Given the description of an element on the screen output the (x, y) to click on. 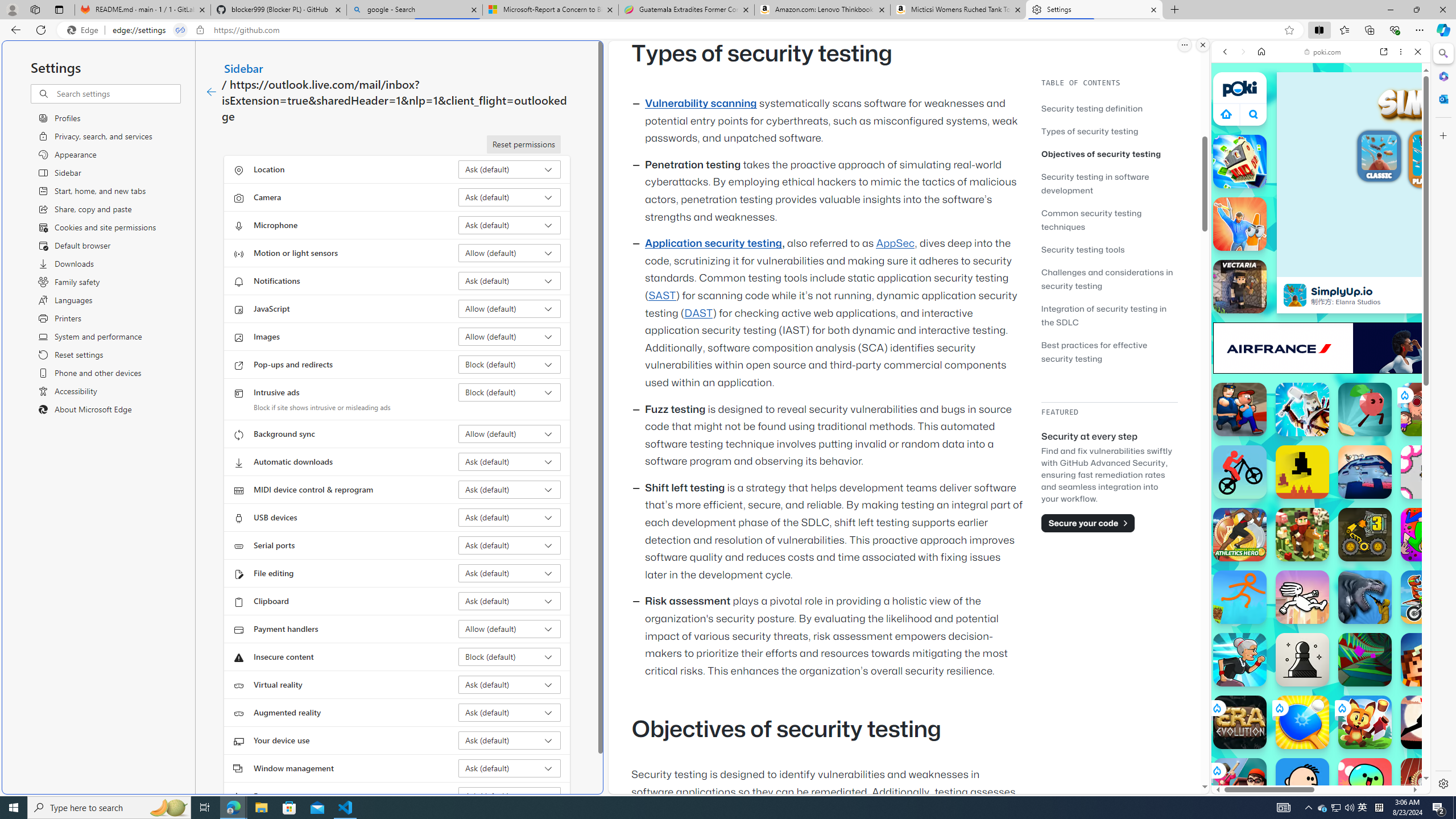
Games for Girls (1320, 407)
Class: rounded img-fluid d-block w-100 fit-cover (1433, 155)
Show More Shooting Games (1390, 296)
File editing Ask (default) (509, 573)
Angry Gran Run (1239, 659)
Dreadhead Parkour (1302, 597)
Stickman Bike Stickman Bike (1239, 471)
Era: Evolution (1239, 722)
Apple Knight: Farmers Market (1302, 534)
Notifications Ask (default) (509, 280)
Poor Eddie Poor Eddie (1302, 784)
